Given the description of an element on the screen output the (x, y) to click on. 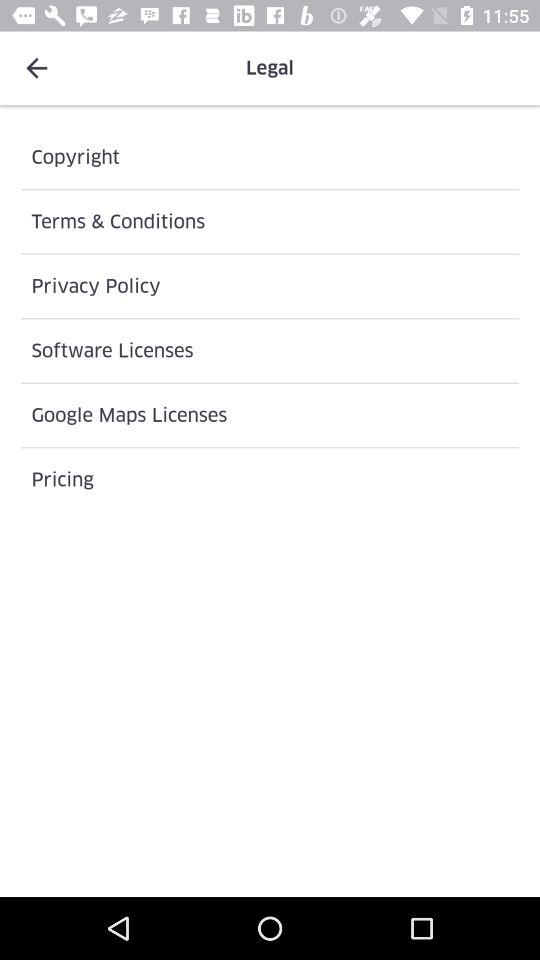
launch icon below the software licenses icon (270, 415)
